Given the description of an element on the screen output the (x, y) to click on. 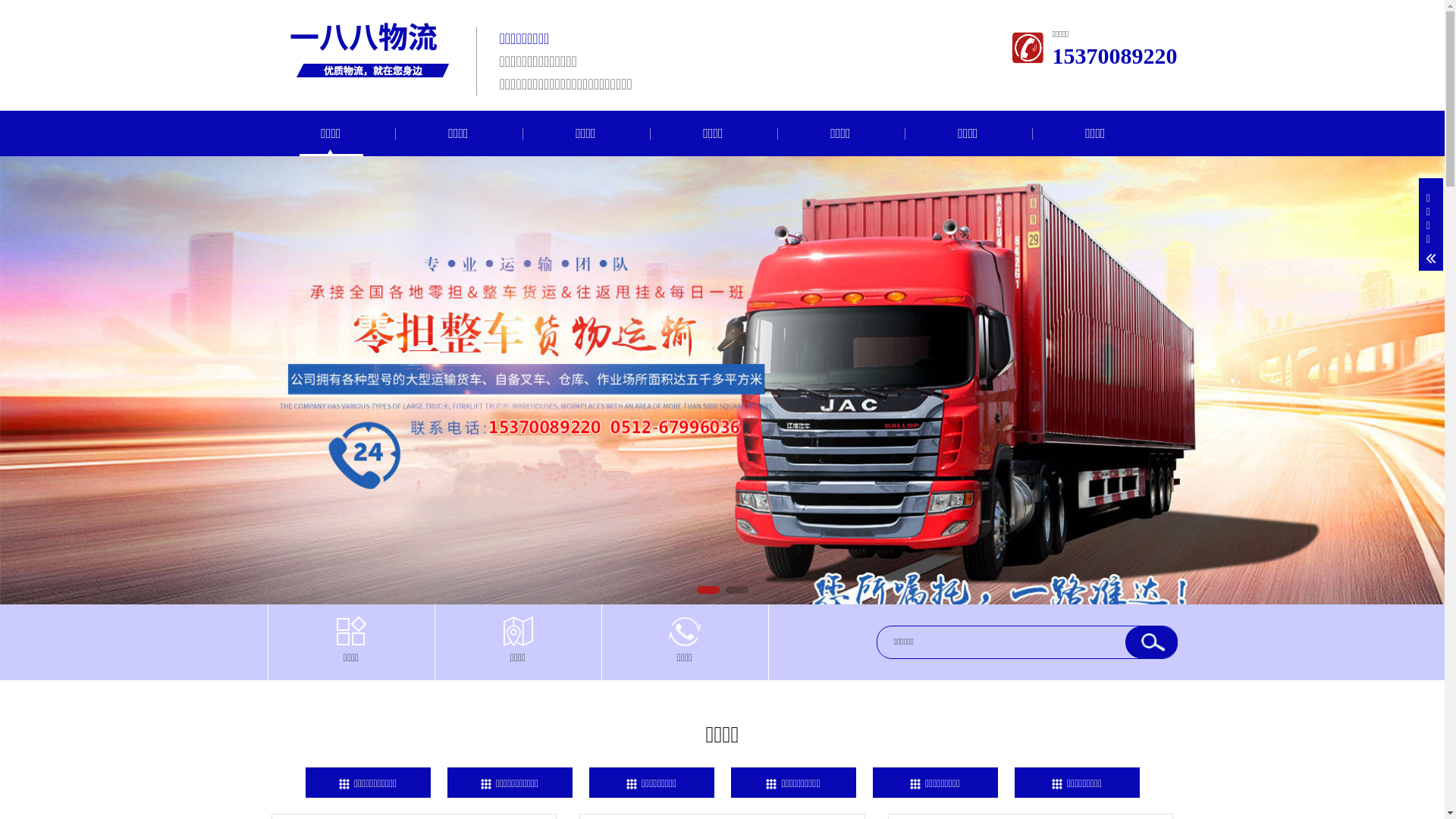
1688969637916828.png Element type: hover (365, 45)
